Given the description of an element on the screen output the (x, y) to click on. 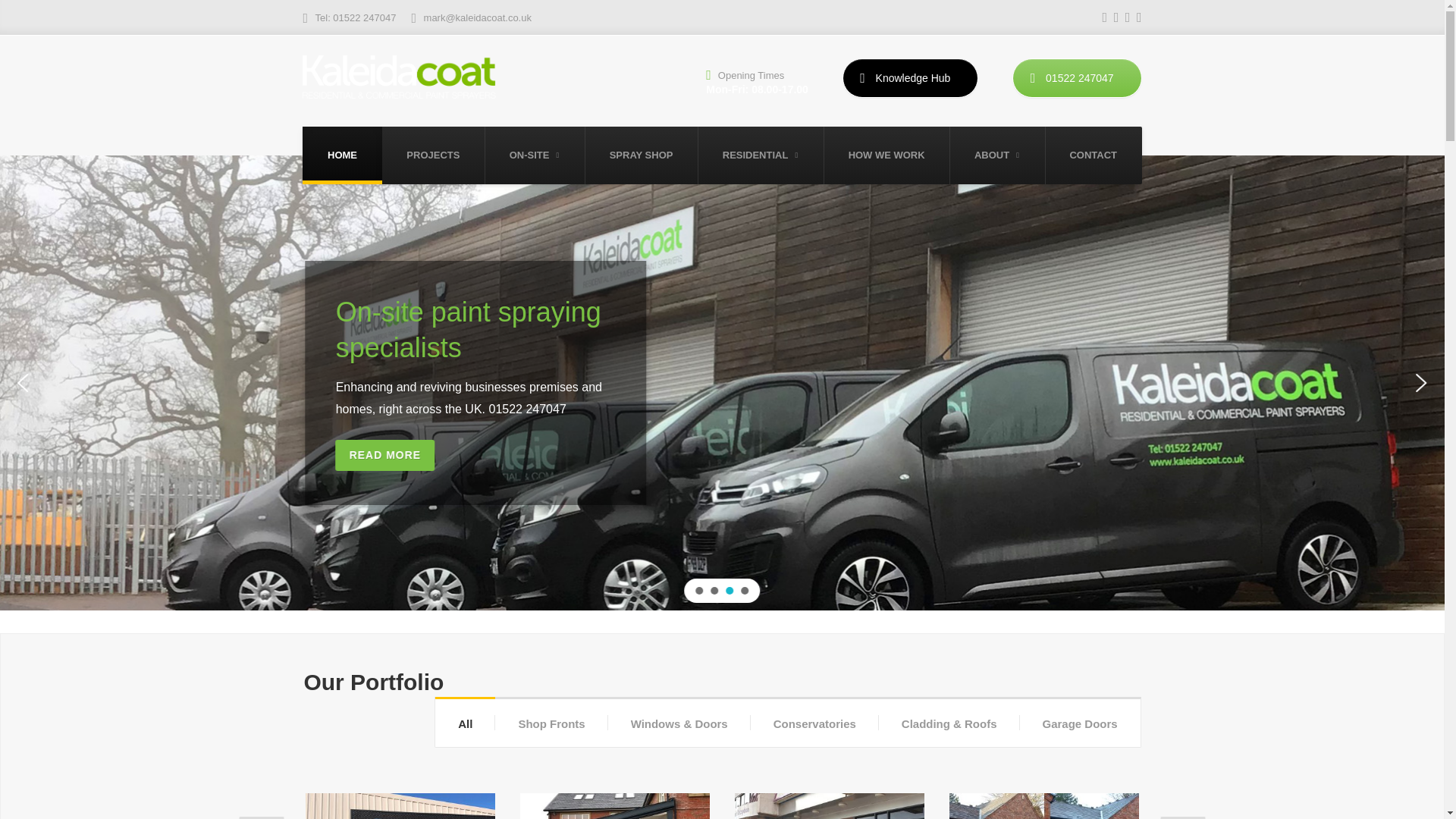
KALEIDACOAT ONSITE SPAYING SPECIALISTS (727, 68)
